Given the description of an element on the screen output the (x, y) to click on. 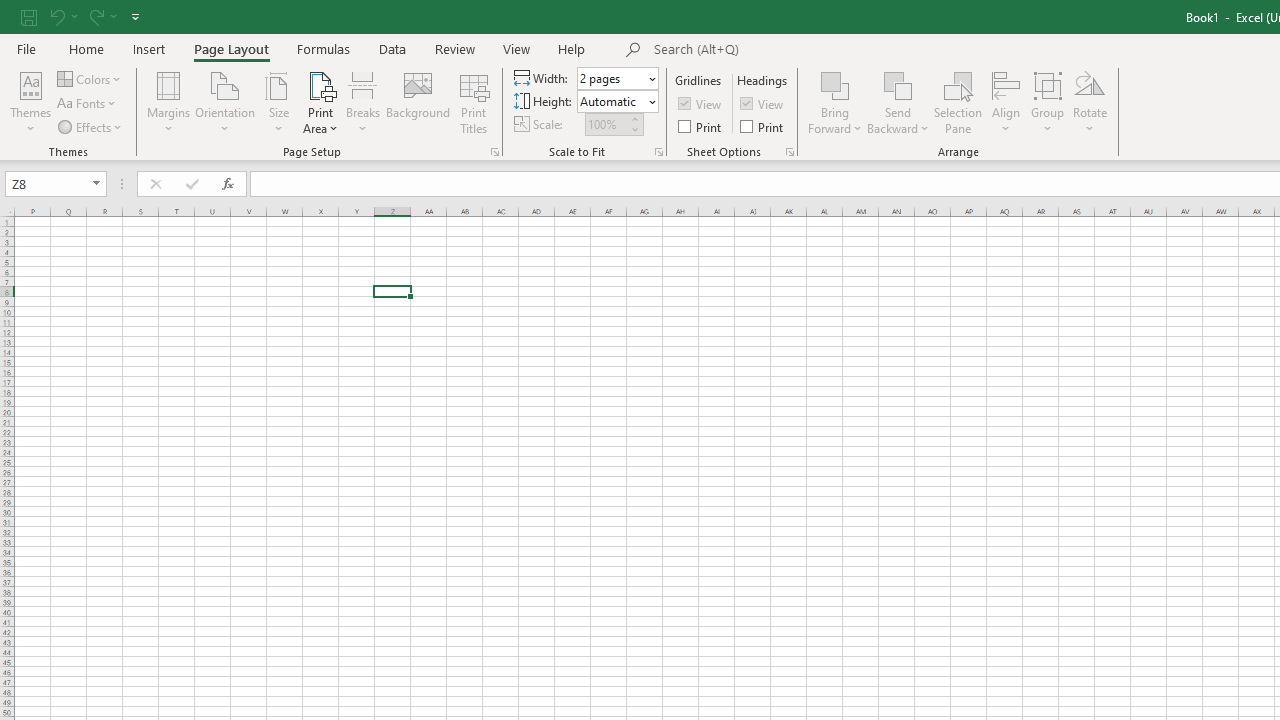
Width (611, 78)
Group (1047, 102)
Print Area (320, 102)
Print (763, 126)
Breaks (362, 102)
Send Backward (898, 84)
Size (278, 102)
Colors (90, 78)
